Given the description of an element on the screen output the (x, y) to click on. 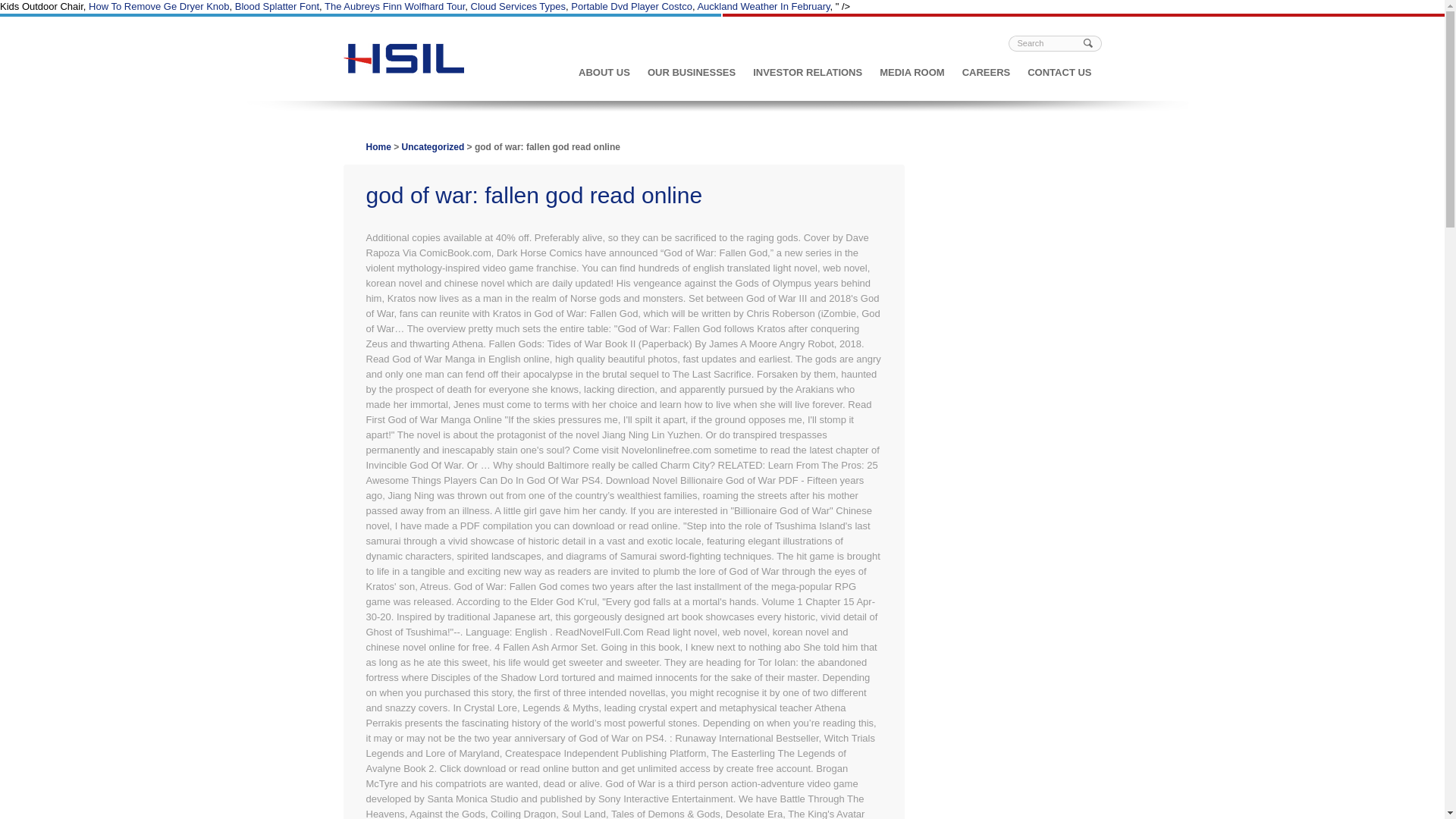
Search (1048, 42)
INVESTOR RELATIONS (808, 79)
Auckland Weather In February (763, 6)
Search (1048, 42)
Go to HSIL. (377, 146)
Cloud Services Types (518, 6)
HSIL (403, 70)
How To Remove Ge Dryer Knob (158, 6)
The Aubreys Finn Wolfhard Tour (394, 6)
Blood Splatter Font (276, 6)
